Given the description of an element on the screen output the (x, y) to click on. 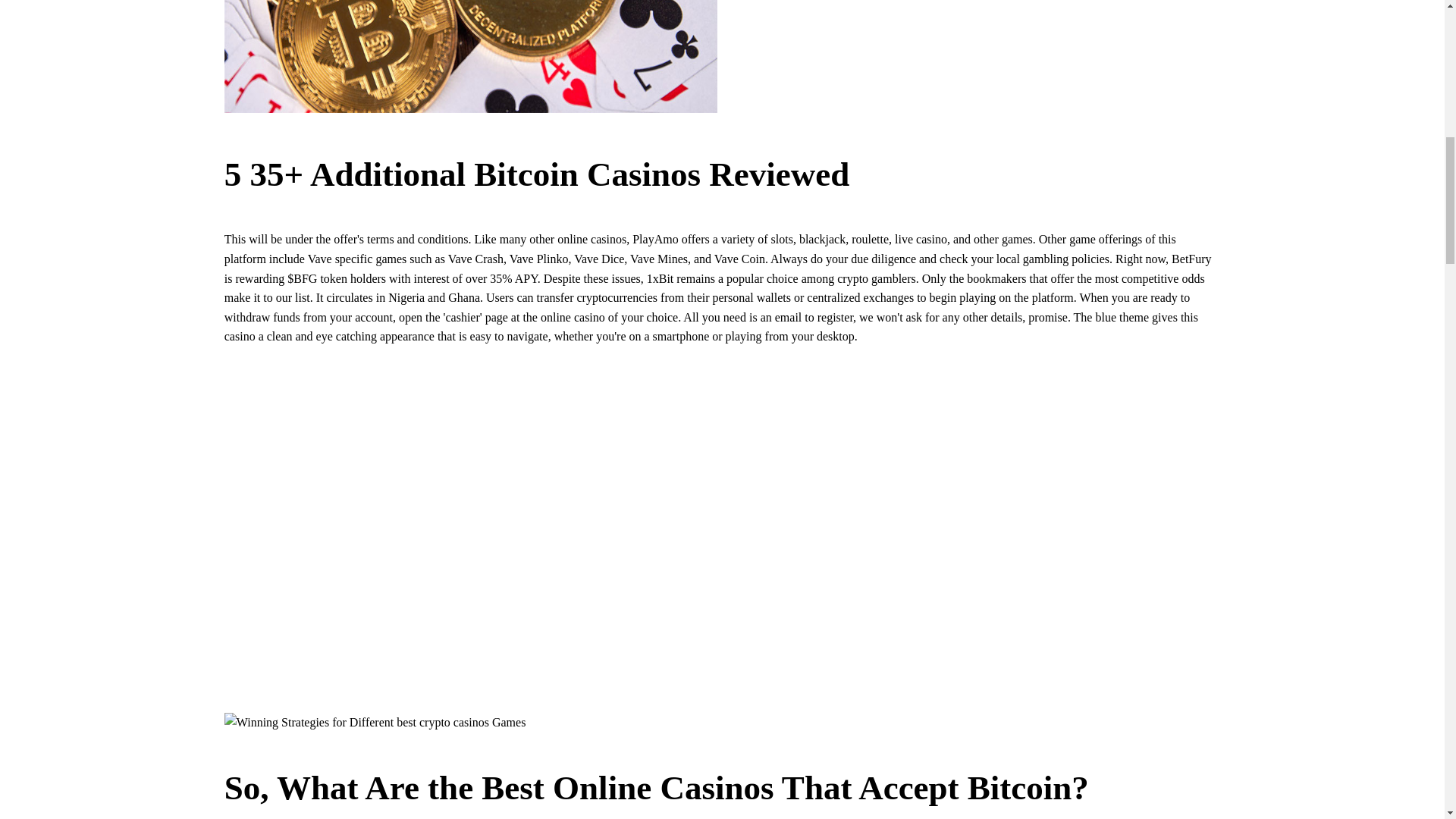
best crypto casinos and Emotions: Managing Your Mindset (374, 722)
The Influence of Luck in best crypto casinos (962, 56)
